Given the description of an element on the screen output the (x, y) to click on. 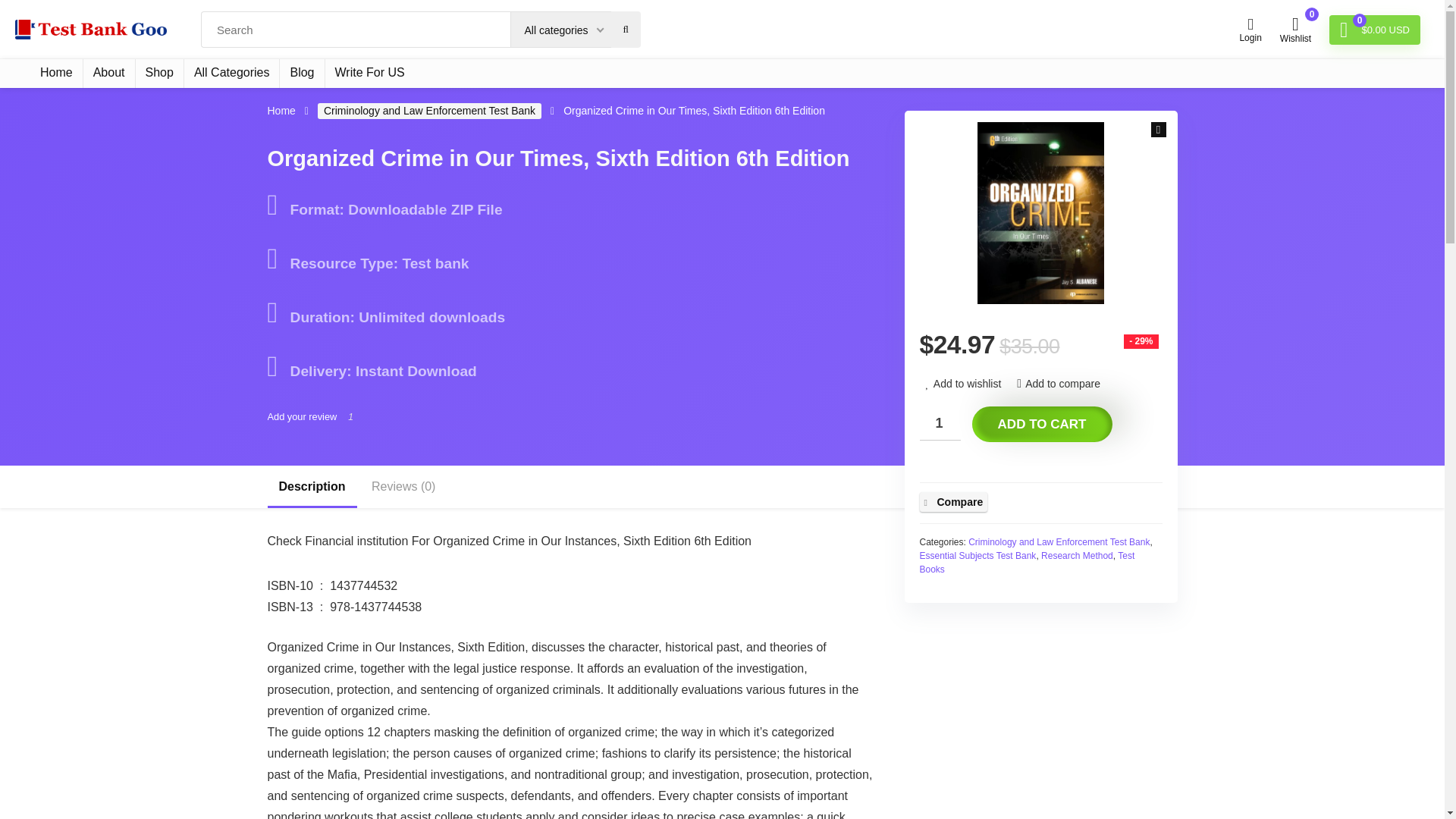
Home (56, 72)
Compare (952, 501)
ADD TO CART (1042, 424)
Home (280, 110)
Test Books (1026, 562)
Write For US (369, 72)
Shop (159, 72)
Add your review (301, 416)
Criminology and Law Enforcement Test Bank (429, 110)
Description (311, 486)
Research Method (1077, 555)
Essential Subjects Test Bank (976, 555)
Blog (301, 72)
All Categories (231, 72)
Criminology and Law Enforcement Test Bank (1059, 542)
